Given the description of an element on the screen output the (x, y) to click on. 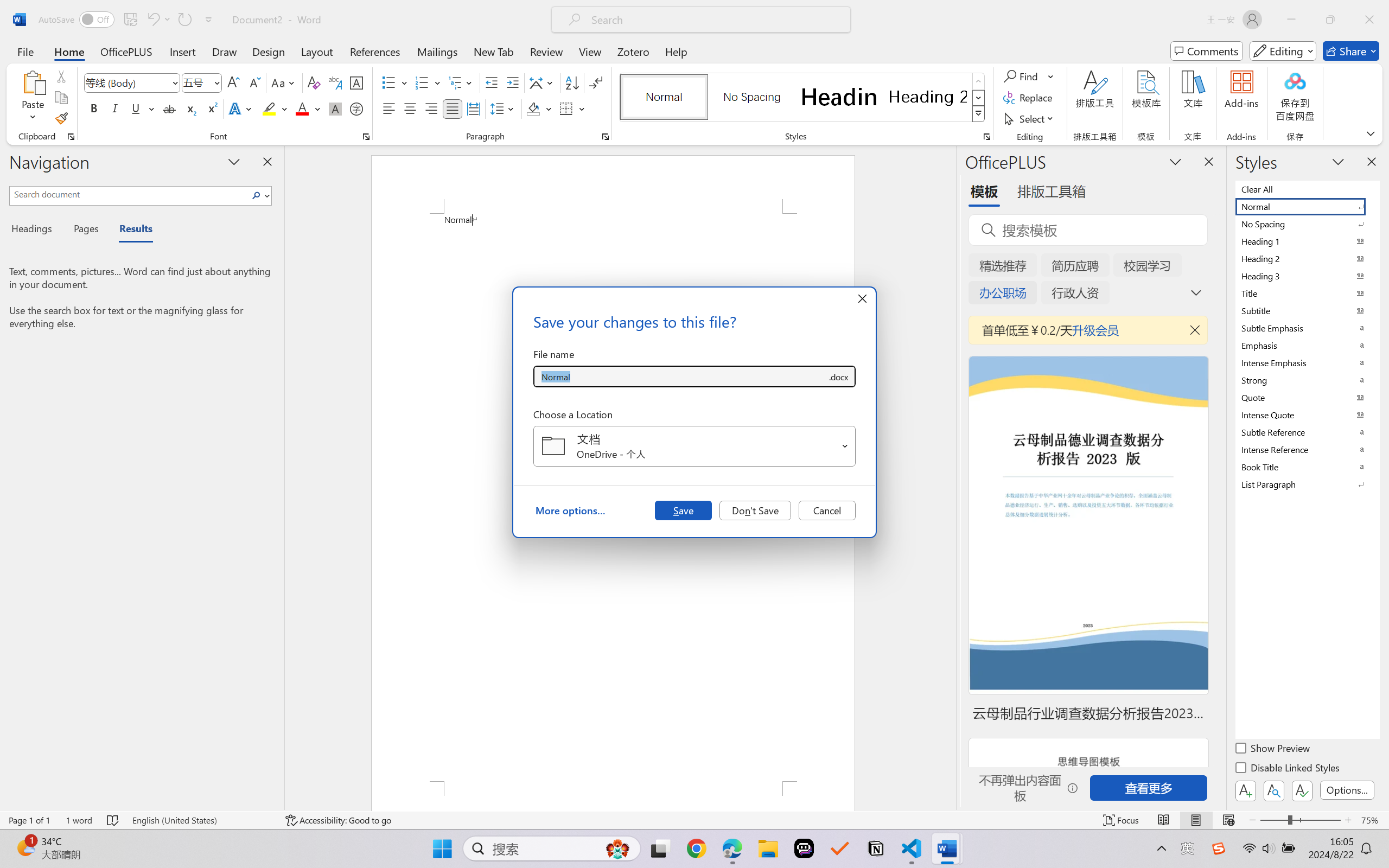
Character Border (356, 82)
Draw (224, 51)
Search (256, 195)
Subscript (190, 108)
Character Shading (334, 108)
Bullets (388, 82)
Undo Apply Quick Style (152, 19)
Title (1306, 293)
No Spacing (1306, 223)
Class: NetUIImage (978, 114)
